Given the description of an element on the screen output the (x, y) to click on. 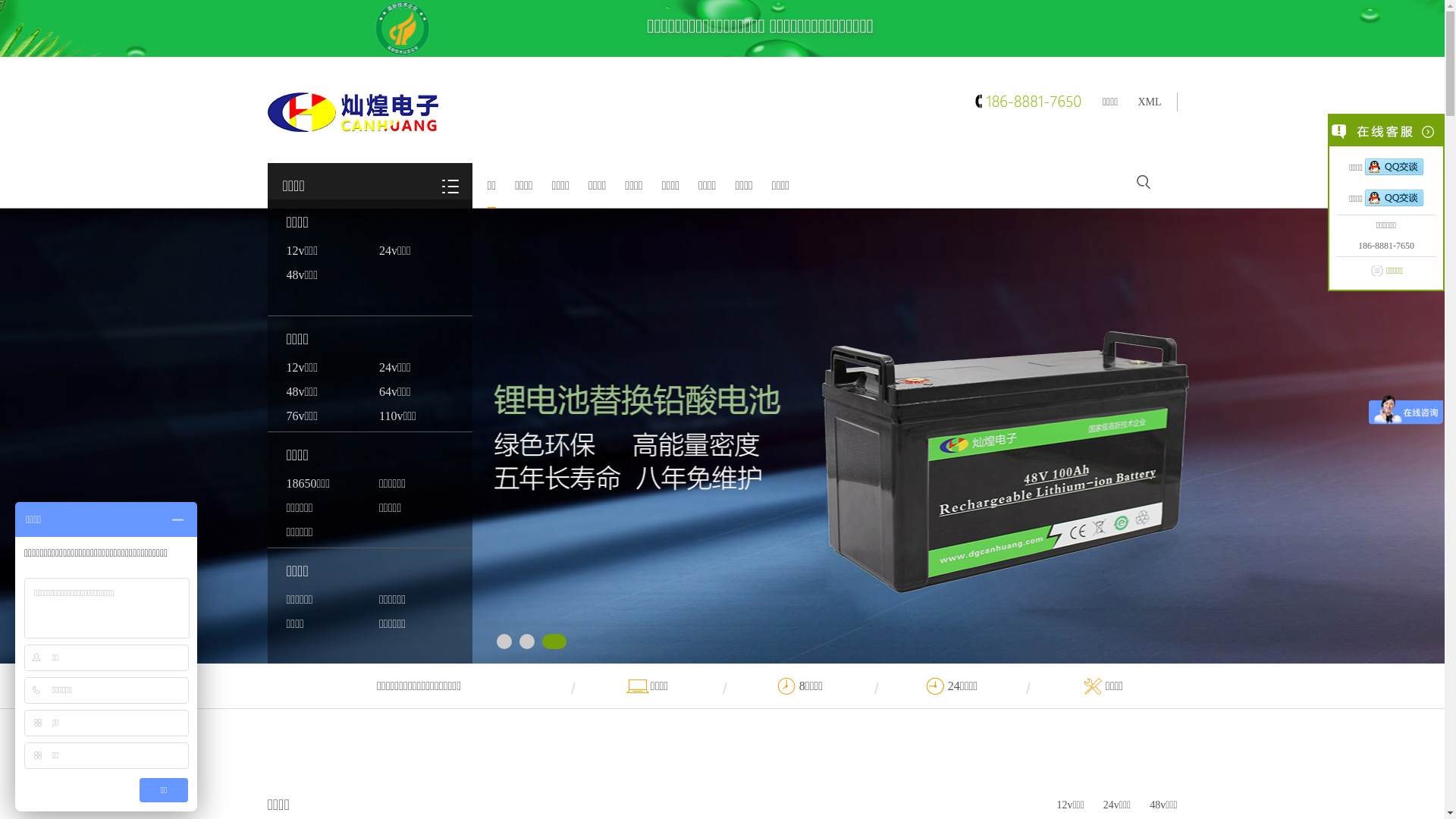
XML Element type: text (1149, 101)
